Given the description of an element on the screen output the (x, y) to click on. 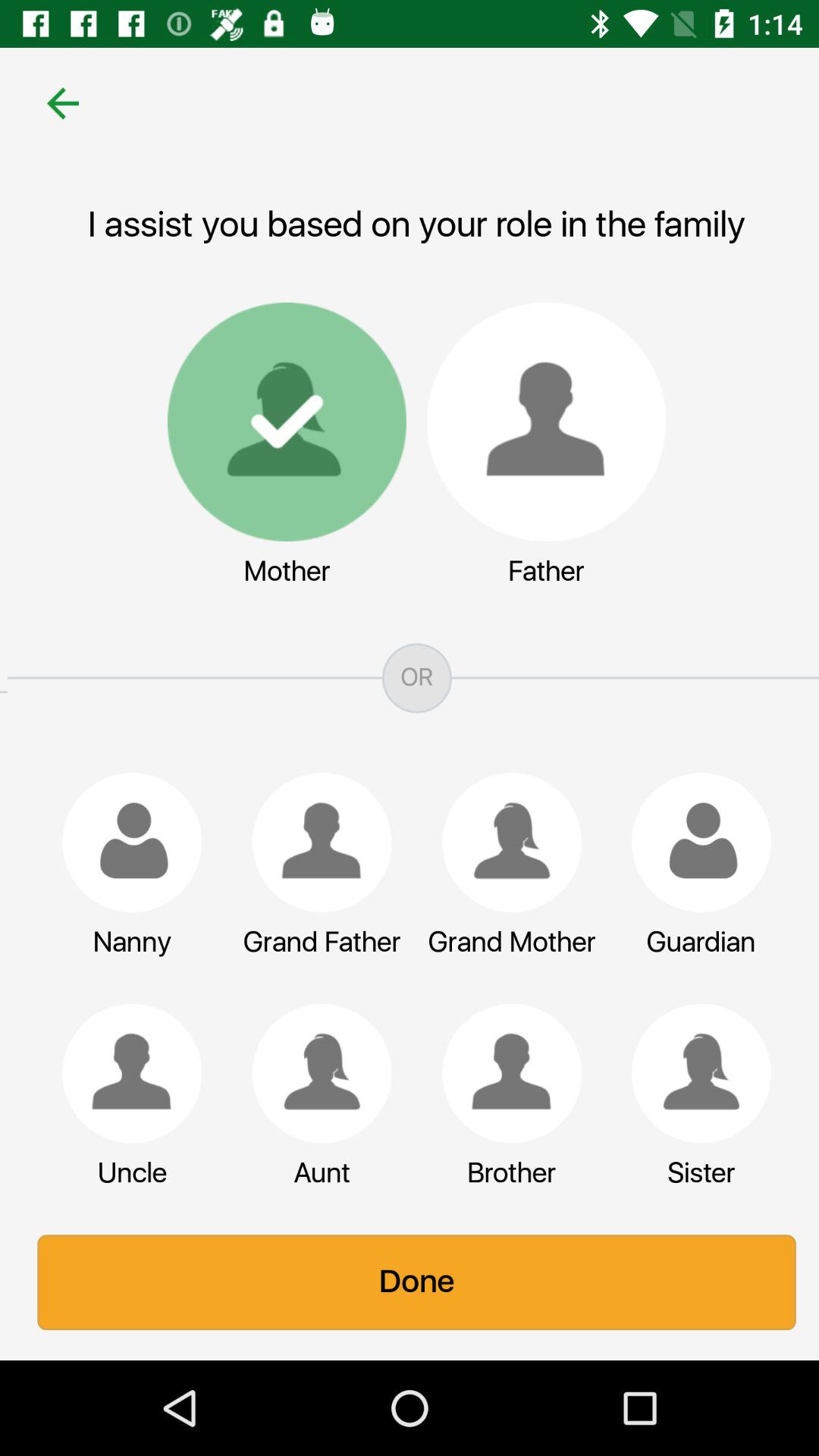
launch or (409, 678)
